Given the description of an element on the screen output the (x, y) to click on. 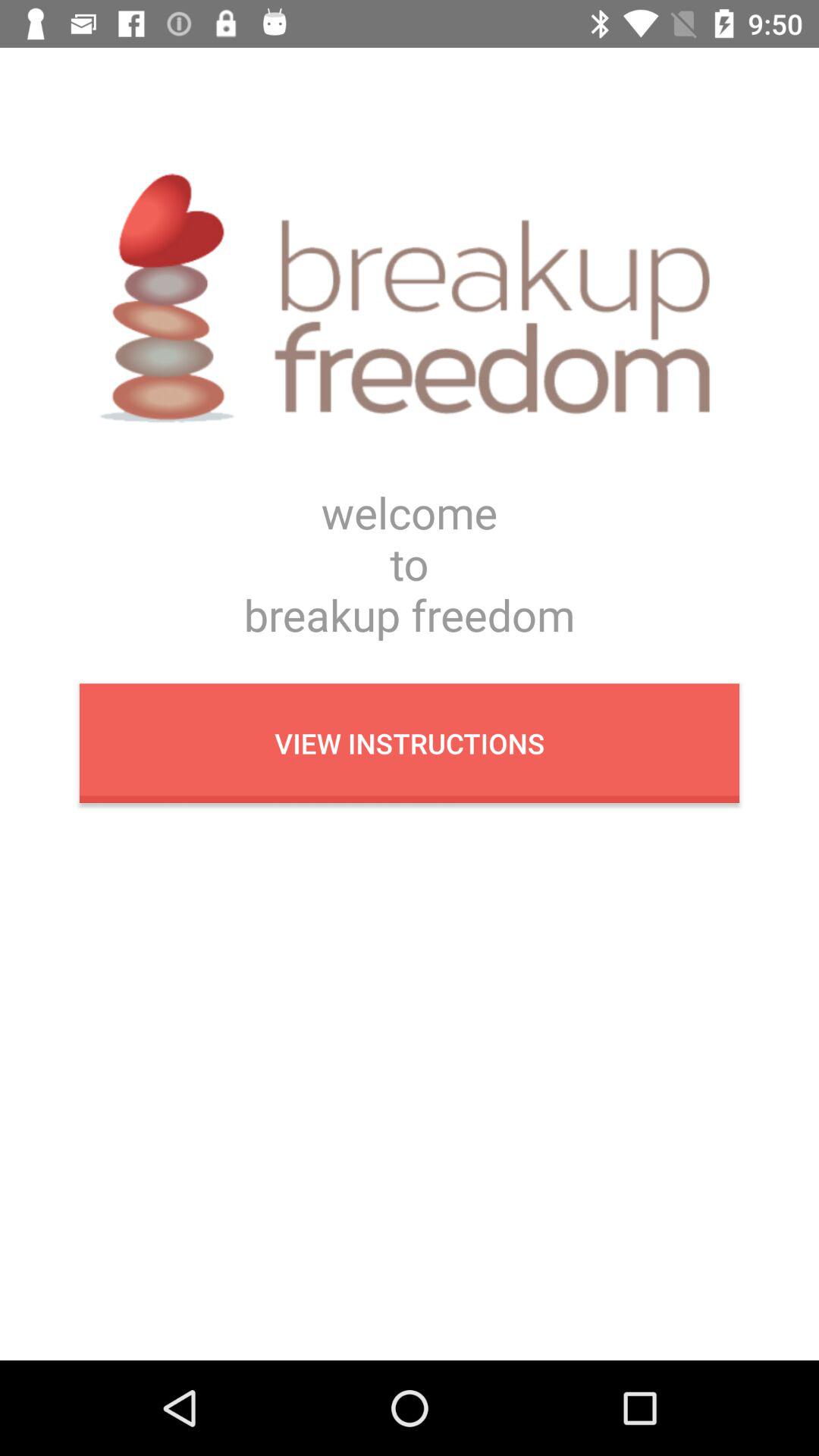
select icon below the welcome to breakup (409, 743)
